Given the description of an element on the screen output the (x, y) to click on. 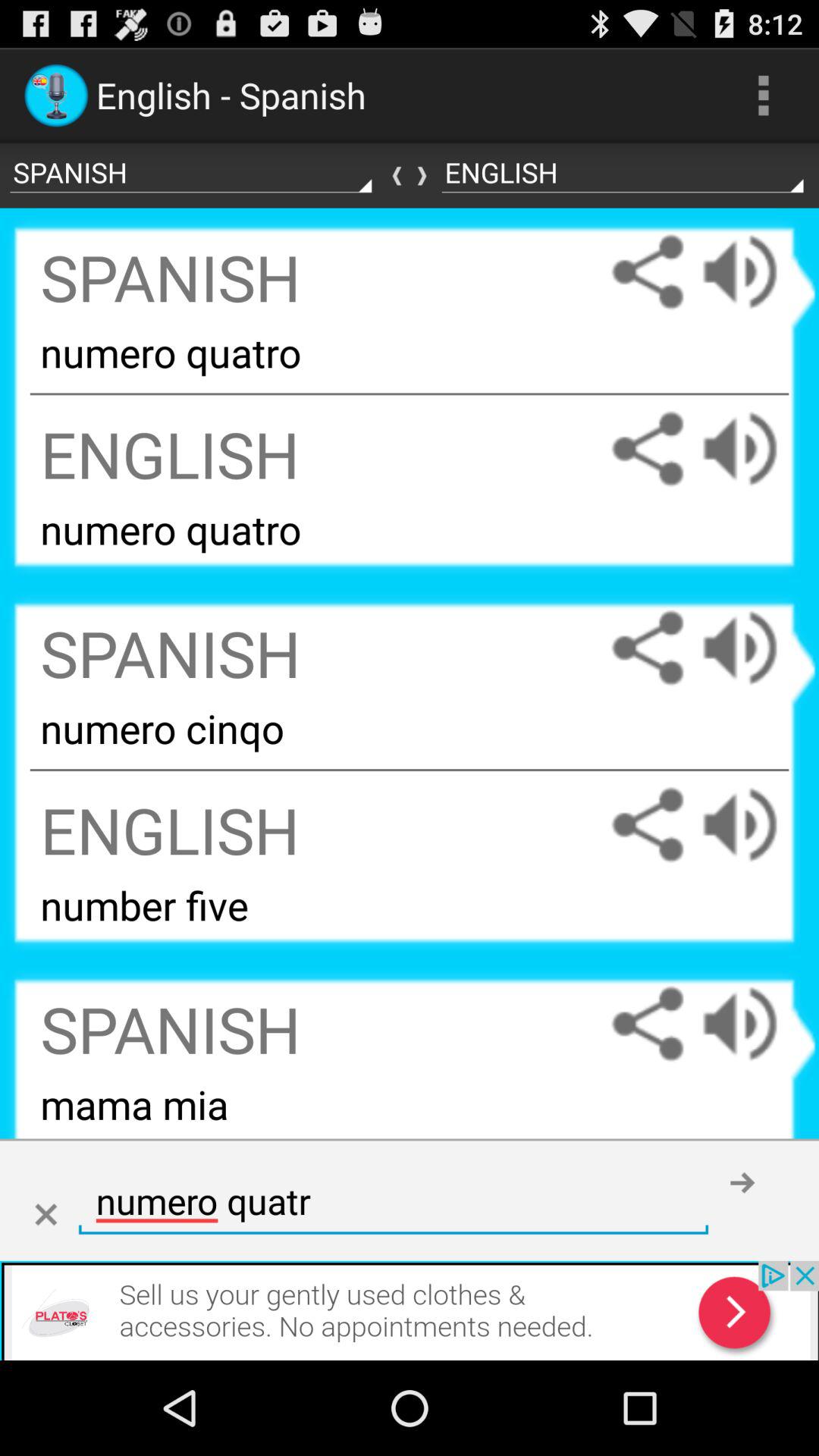
play spanish pronunciation out loud (754, 271)
